Given the description of an element on the screen output the (x, y) to click on. 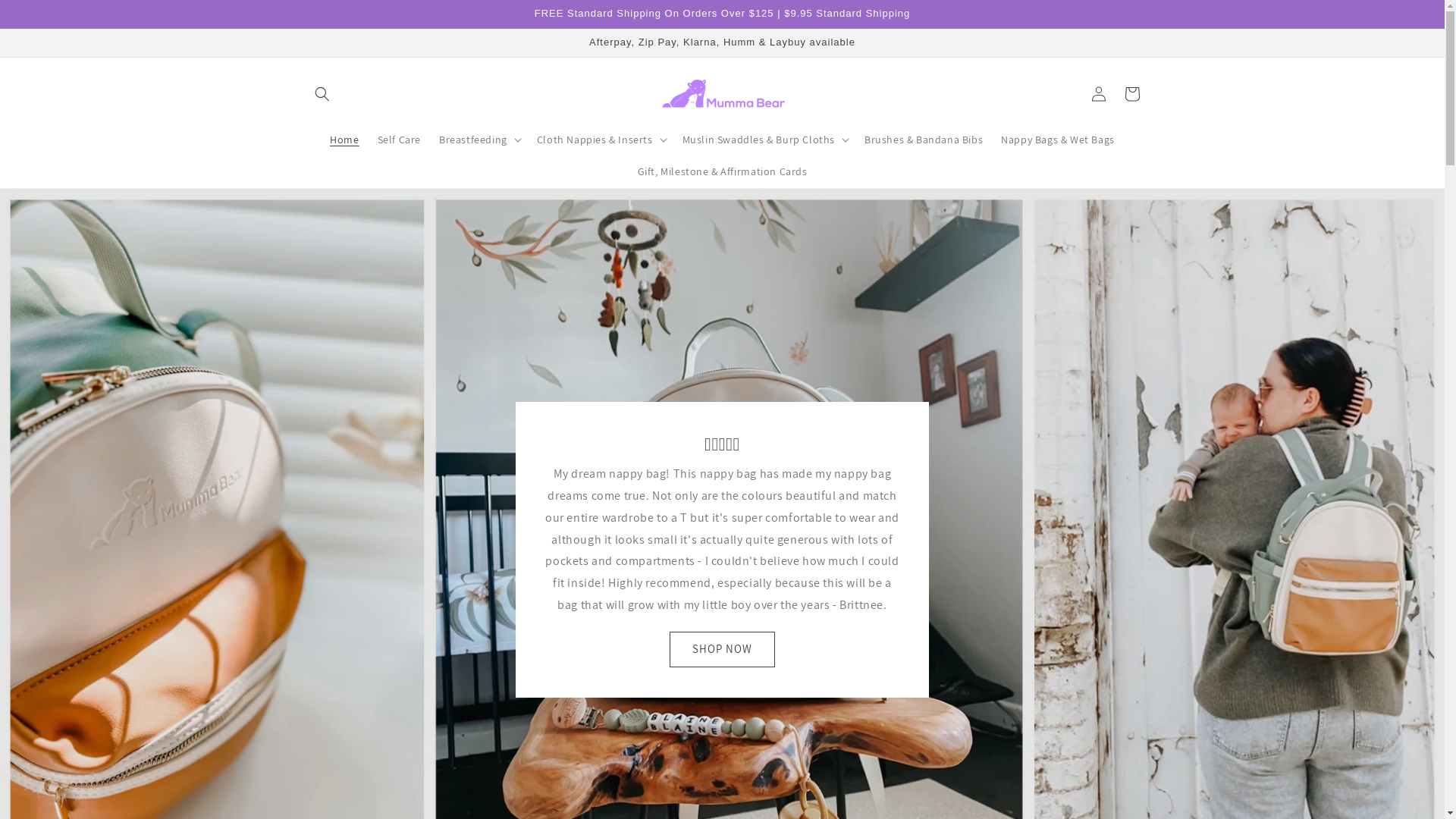
Gift, Milestone & Affirmation Cards Element type: text (721, 171)
Brushes & Bandana Bibs Element type: text (923, 139)
Log in Element type: text (1097, 93)
Nappy Bags & Wet Bags Element type: text (1057, 139)
Self Care Element type: text (398, 139)
Cart Element type: text (1131, 93)
Home Element type: text (343, 139)
SHOP NOW Element type: text (722, 649)
